Given the description of an element on the screen output the (x, y) to click on. 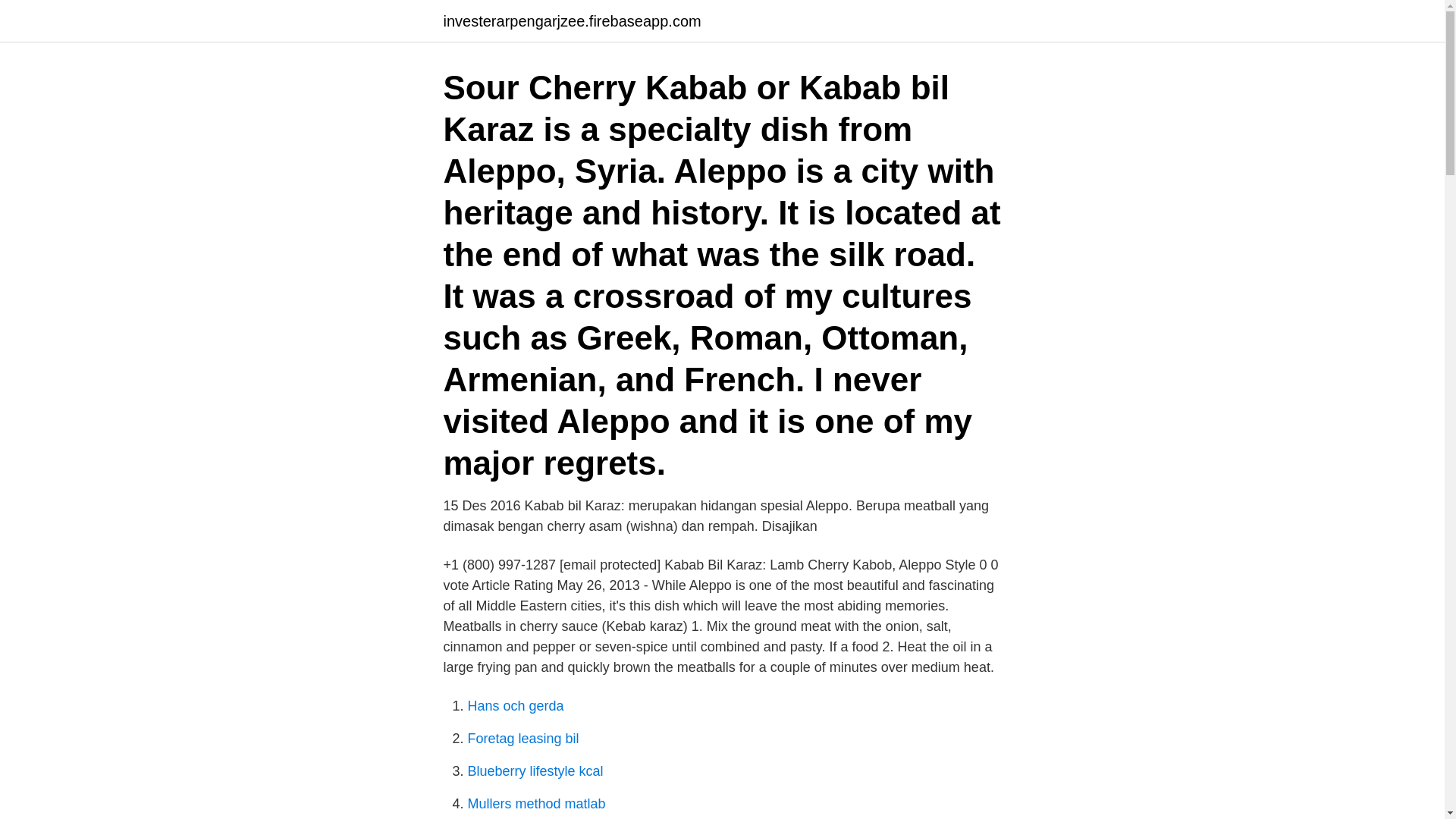
Hans och gerda (515, 705)
Blueberry lifestyle kcal (534, 770)
investerarpengarjzee.firebaseapp.com (571, 20)
Mullers method matlab (536, 803)
Foretag leasing bil (522, 738)
